Given the description of an element on the screen output the (x, y) to click on. 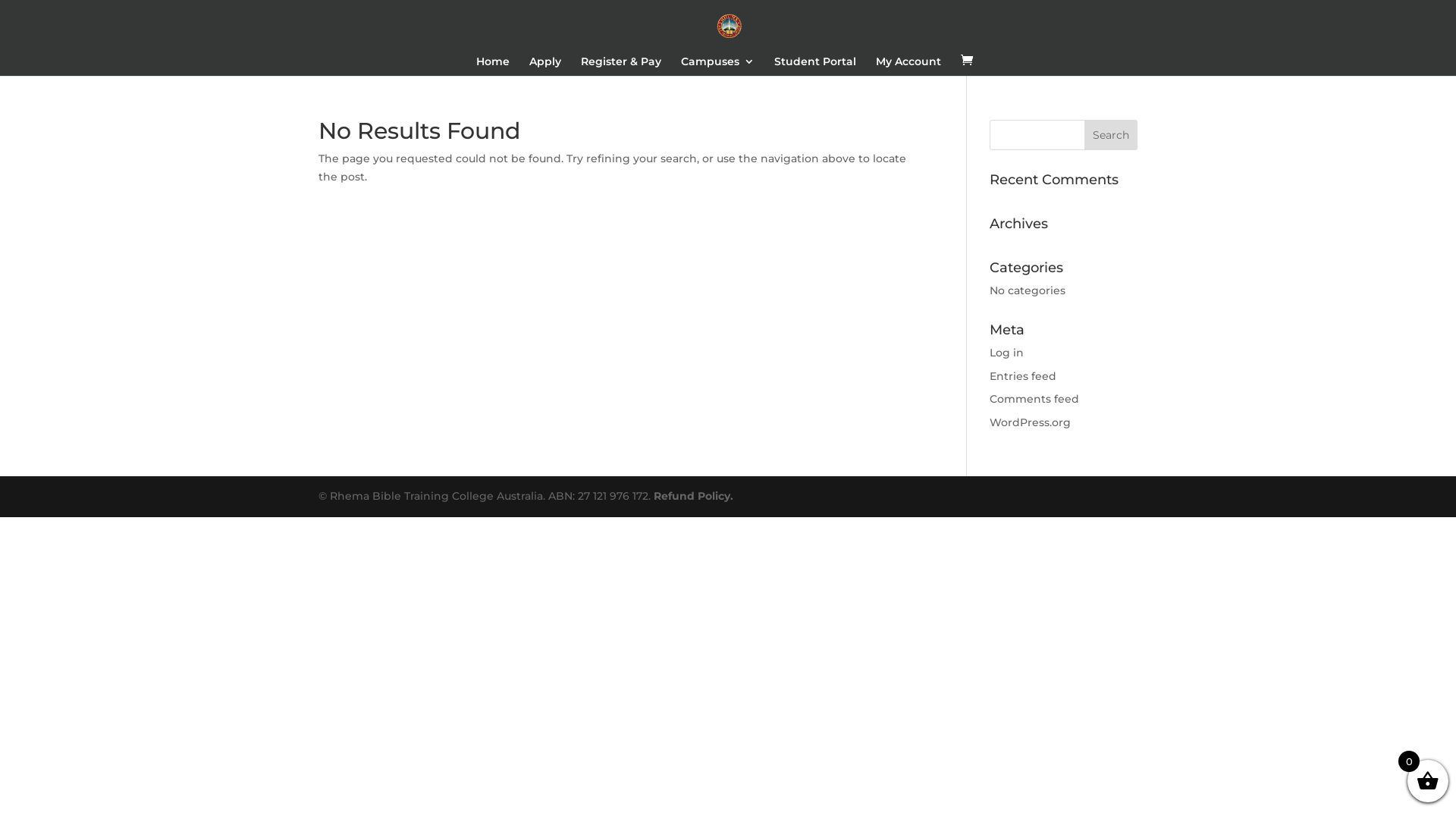
Search Element type: text (1110, 134)
Home Element type: text (492, 65)
My Account Element type: text (907, 65)
Refund Policy. Element type: text (693, 495)
Log in Element type: text (1006, 352)
Campuses Element type: text (717, 65)
Register & Pay Element type: text (620, 65)
Entries feed Element type: text (1022, 375)
WordPress.org Element type: text (1029, 422)
Apply Element type: text (545, 65)
Comments feed Element type: text (1034, 398)
Student Portal Element type: text (814, 65)
